Given the description of an element on the screen output the (x, y) to click on. 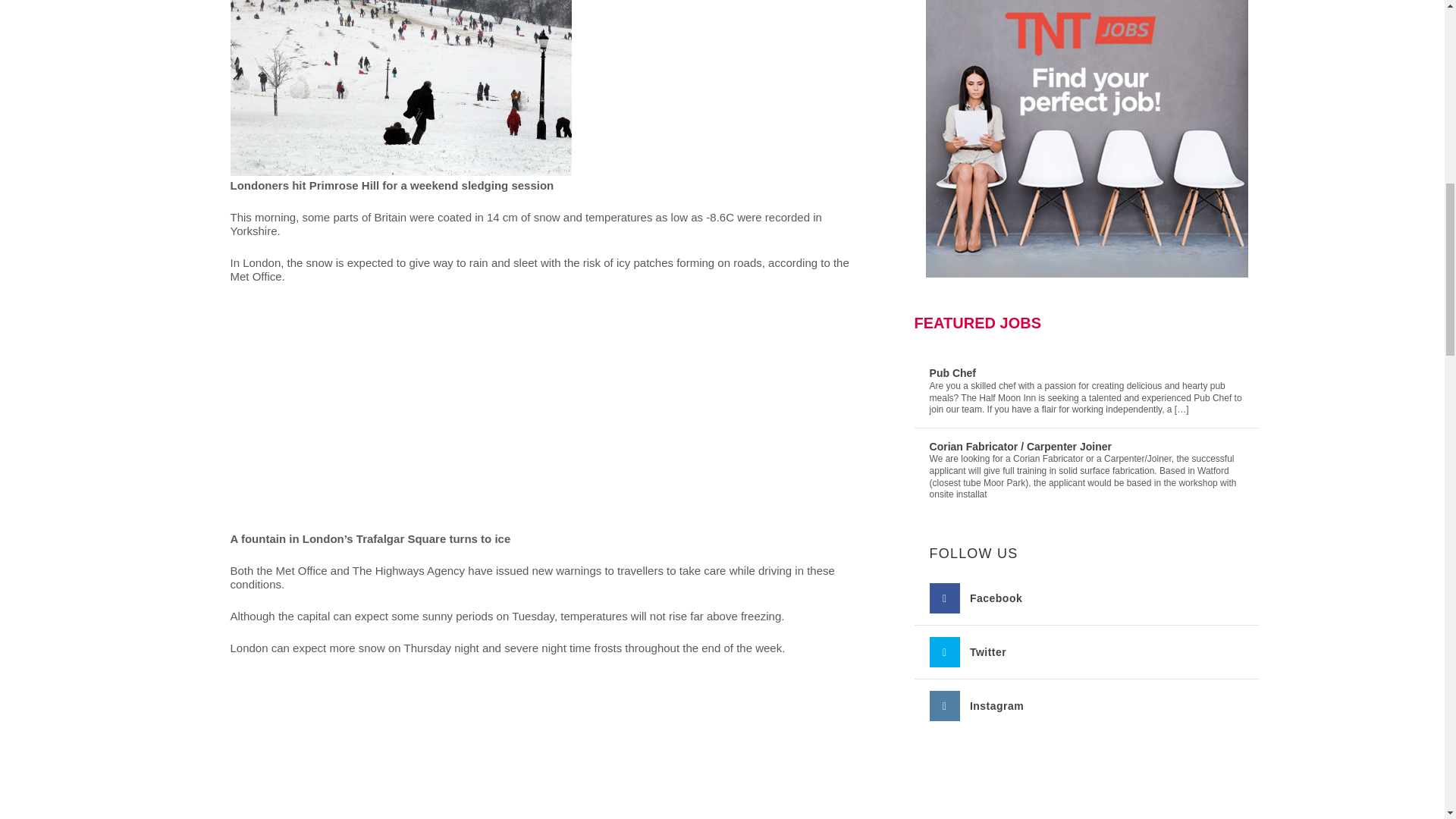
UK weather: London, Heathrow braced for more snow 1 (401, 88)
UK weather: London, Heathrow braced for more snow 3 (401, 746)
UK weather: London, Heathrow braced for more snow 2 (401, 415)
